Given the description of an element on the screen output the (x, y) to click on. 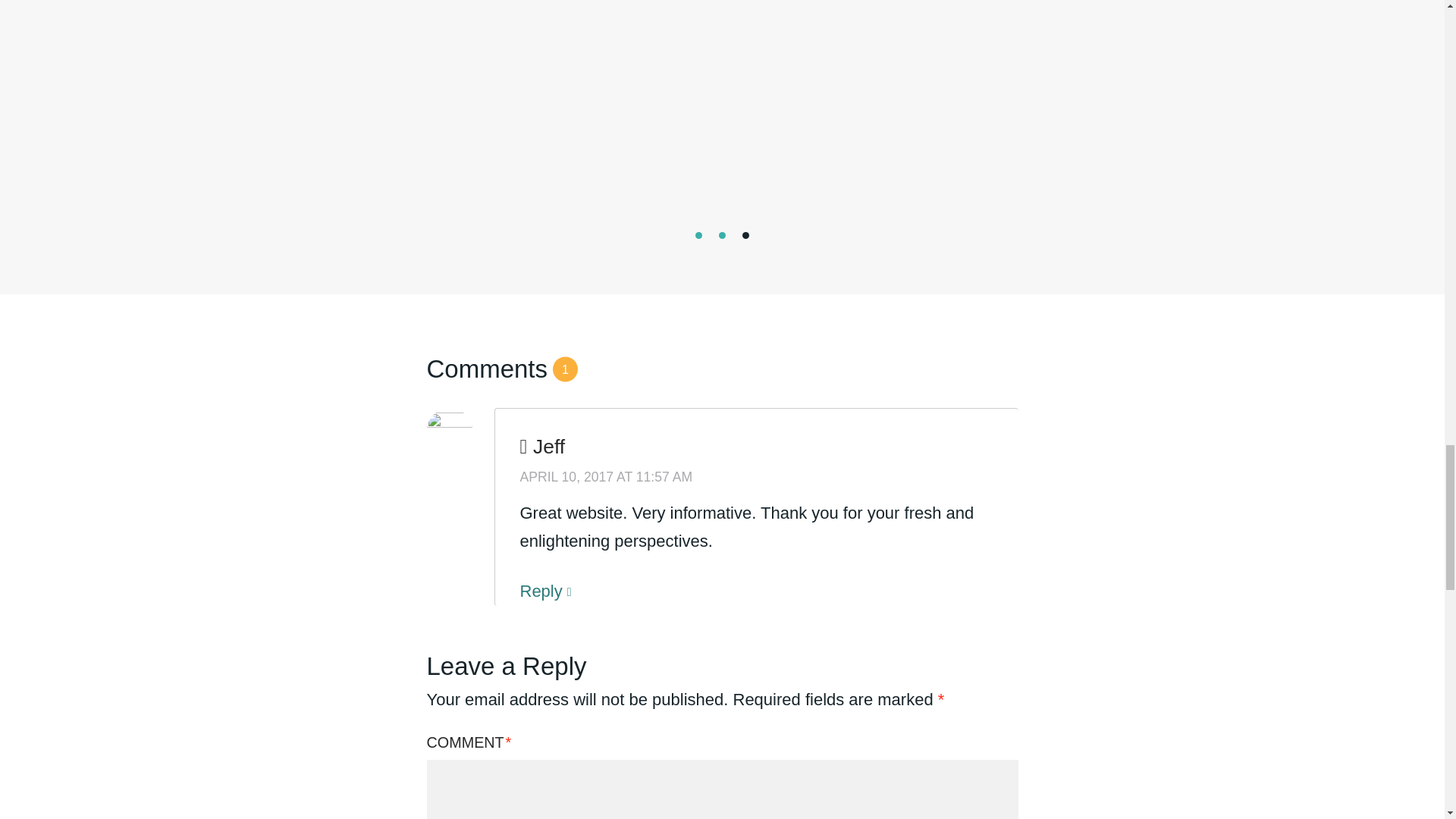
2 (722, 235)
3 (745, 235)
1 (698, 235)
1 (698, 235)
2 (722, 235)
